Given the description of an element on the screen output the (x, y) to click on. 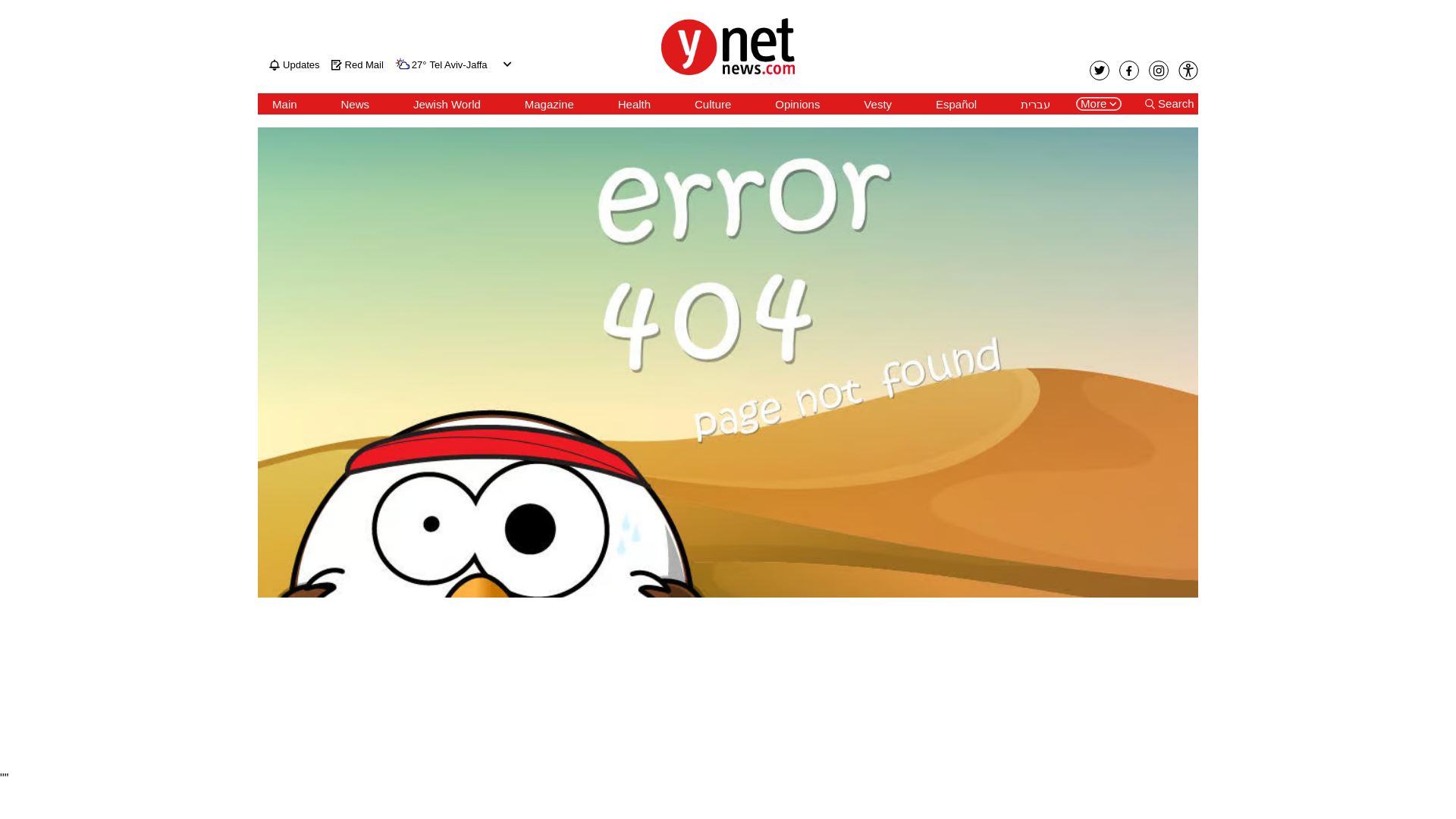
News (354, 103)
Magazine (548, 103)
Jewish World (446, 103)
Vesty (877, 103)
Tel Aviv-Jaffa (457, 65)
Health (633, 103)
Red Mail (357, 64)
Opinions (796, 103)
Updates (293, 64)
Culture (712, 103)
